Given the description of an element on the screen output the (x, y) to click on. 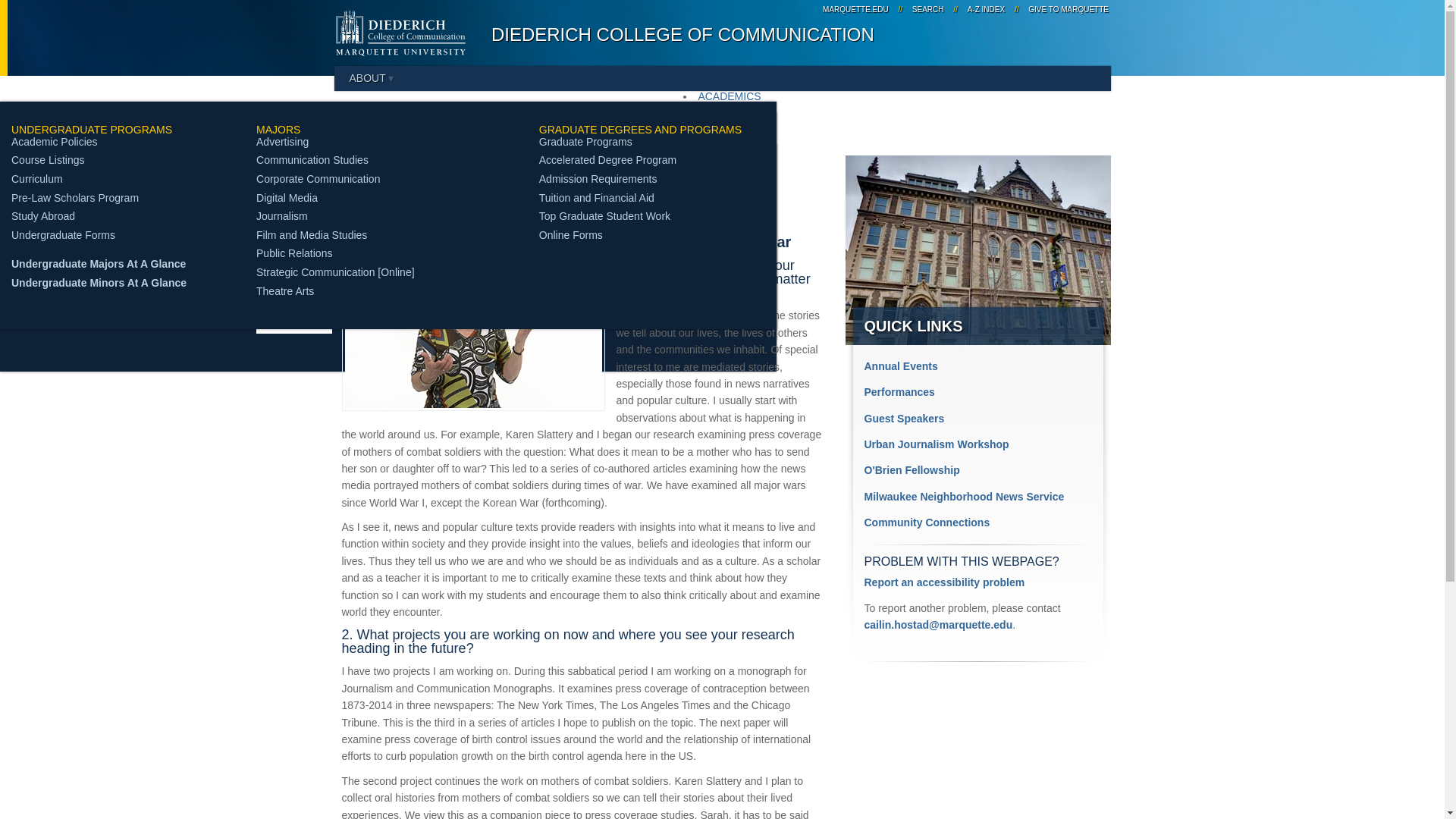
Undergraduate Minors At A Glance (98, 282)
Undergraduate Forms (63, 234)
MARQUETTE.EDU (855, 8)
Study Abroad (43, 215)
DIEDERICH COLLEGE OF COMMUNICATION (683, 34)
Academic Policies (54, 141)
Curriculum (36, 178)
ABOUT (371, 78)
GIVE TO MARQUETTE (1066, 8)
Corporate Communication (318, 178)
SEARCH (927, 8)
Communication Studies (312, 159)
Top Graduate Student Work (603, 215)
Pre-Law Scholars Program (74, 197)
Undergraduate Majors At A Glance (98, 263)
